Given the description of an element on the screen output the (x, y) to click on. 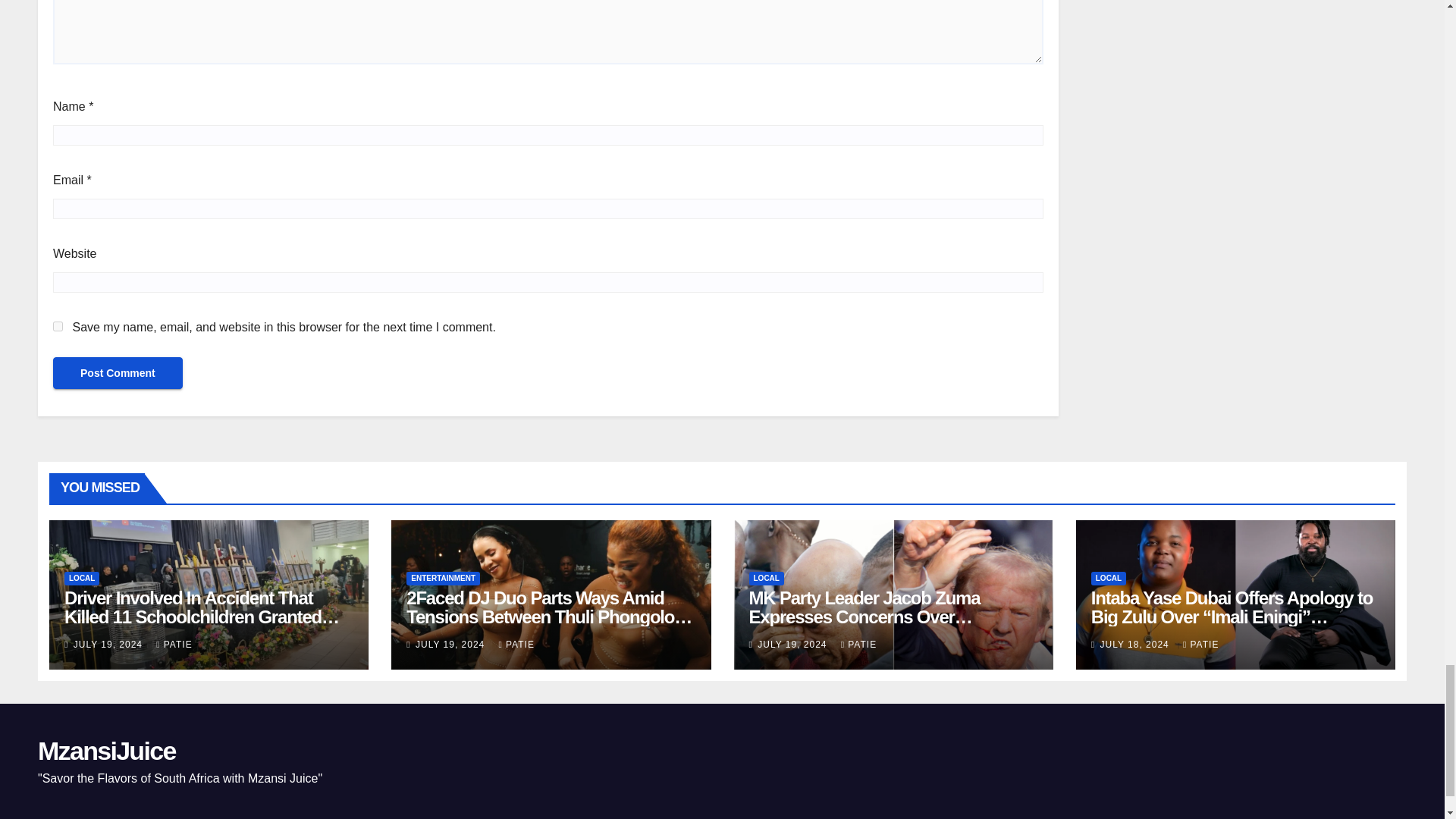
yes (57, 326)
Post Comment (117, 373)
